Given the description of an element on the screen output the (x, y) to click on. 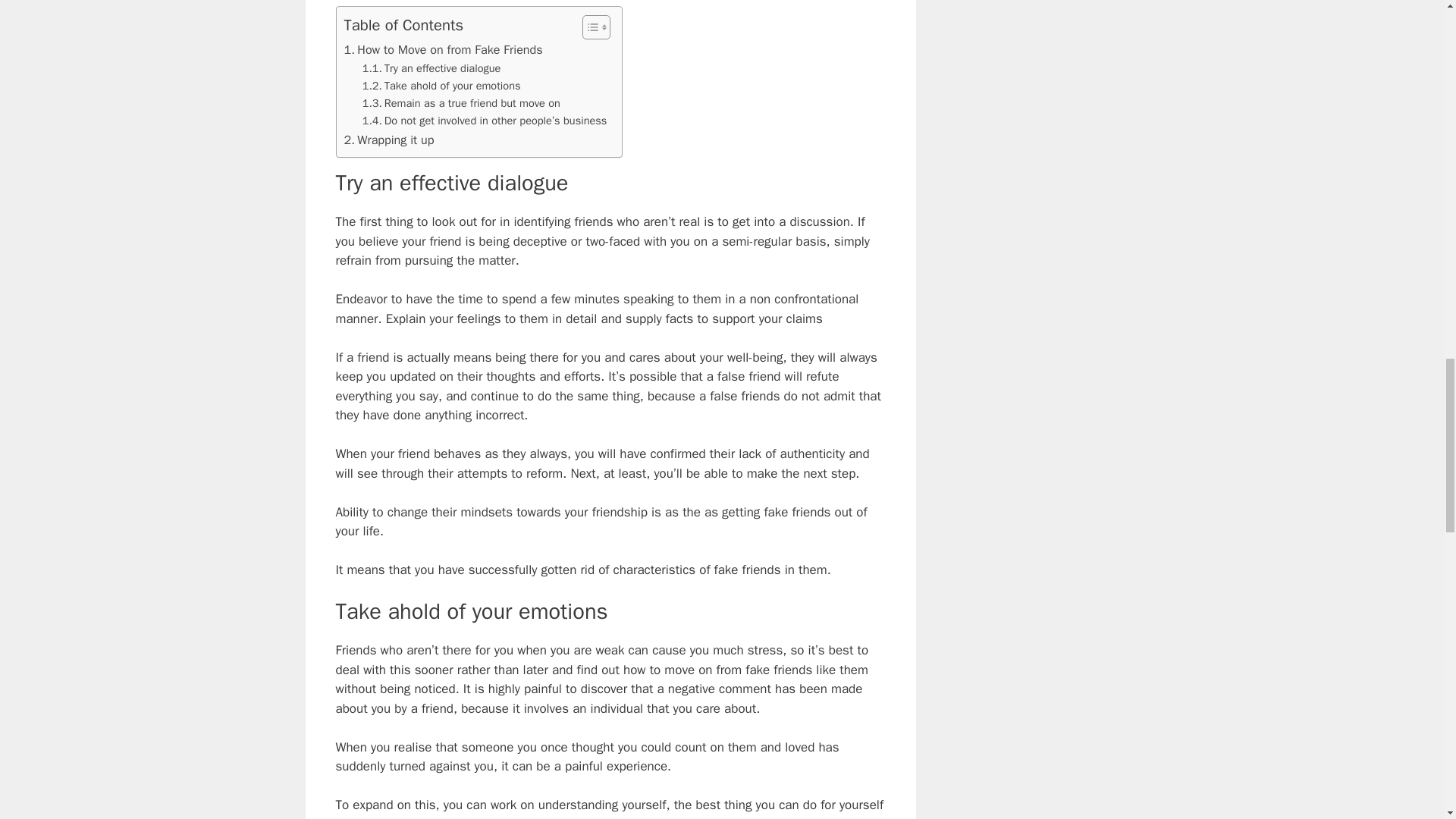
Remain as a true friend but move on (461, 103)
Try an effective dialogue (431, 67)
Remain as a true friend but move on (461, 103)
Try an effective dialogue (431, 67)
Wrapping it up (388, 139)
Take ahold of your emotions (441, 85)
How to Move on from Fake Friends (443, 49)
Take ahold of your emotions (441, 85)
How to Move on from Fake Friends (443, 49)
Wrapping it up (388, 139)
